Given the description of an element on the screen output the (x, y) to click on. 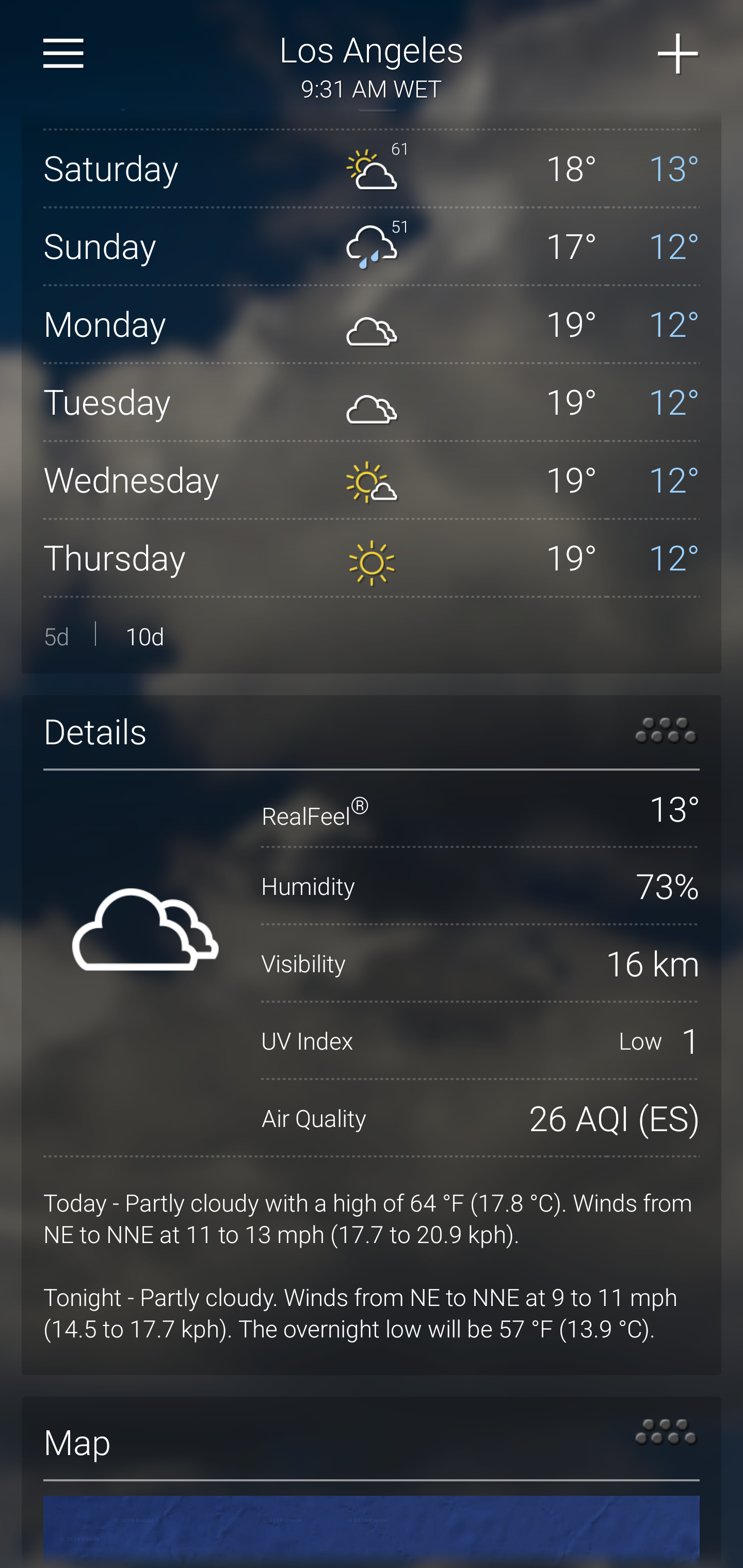
Sidebar (64, 54)
Add City (678, 53)
Forecast Toggle. 10 days (371, 635)
